Given the description of an element on the screen output the (x, y) to click on. 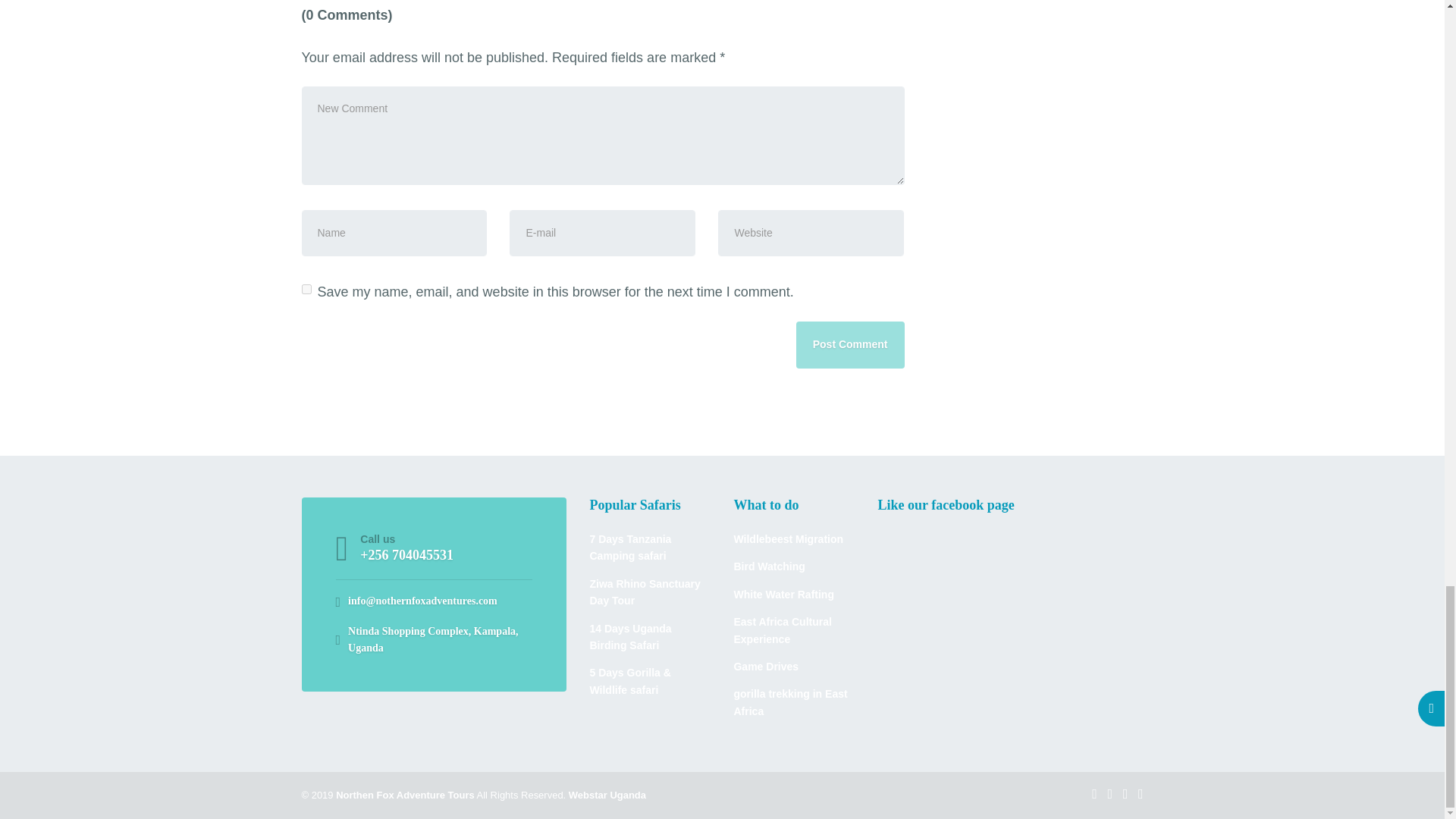
Post Comment (850, 345)
yes (306, 289)
